Given the description of an element on the screen output the (x, y) to click on. 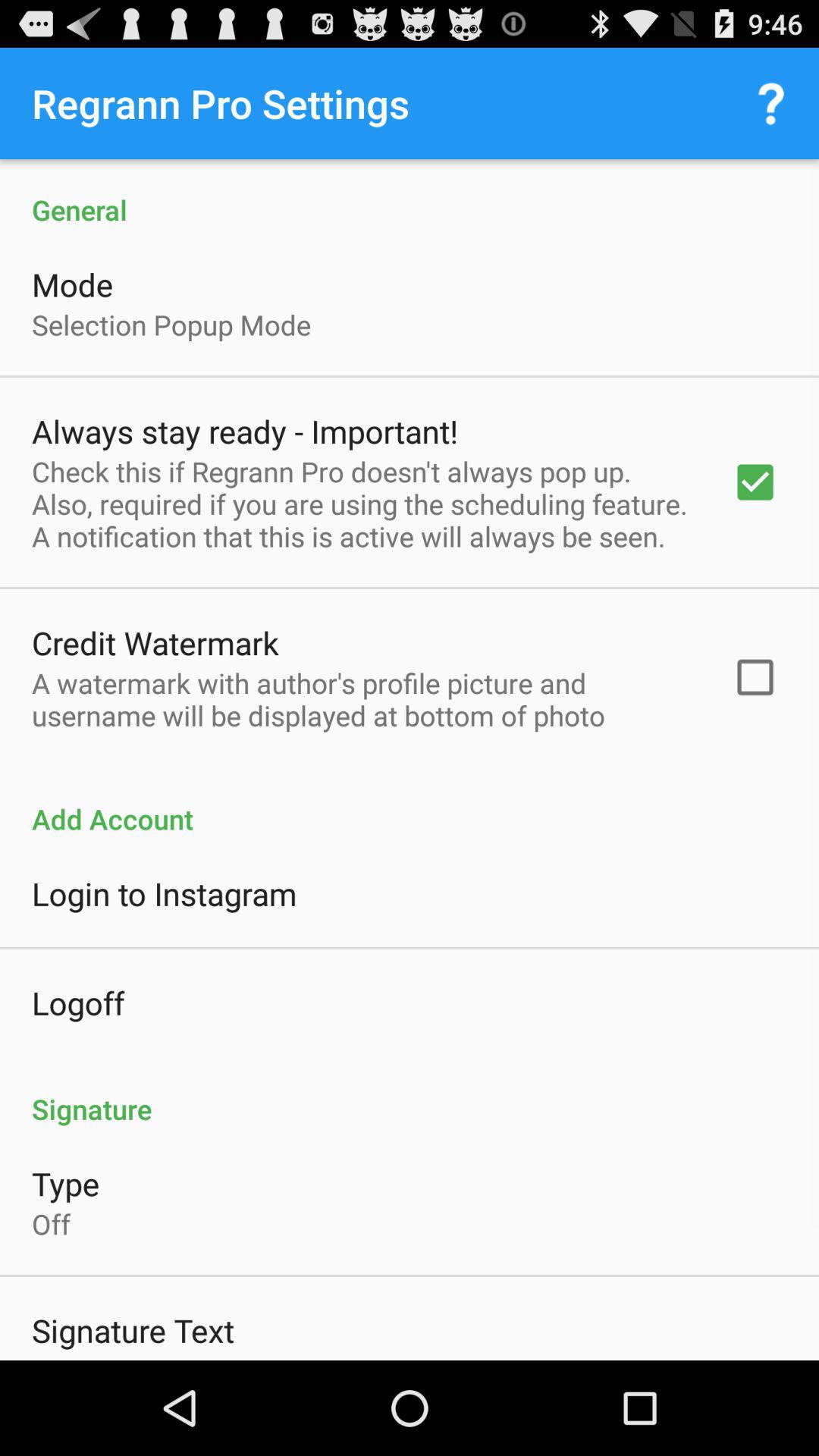
tap the item below the credit watermark icon (361, 699)
